Given the description of an element on the screen output the (x, y) to click on. 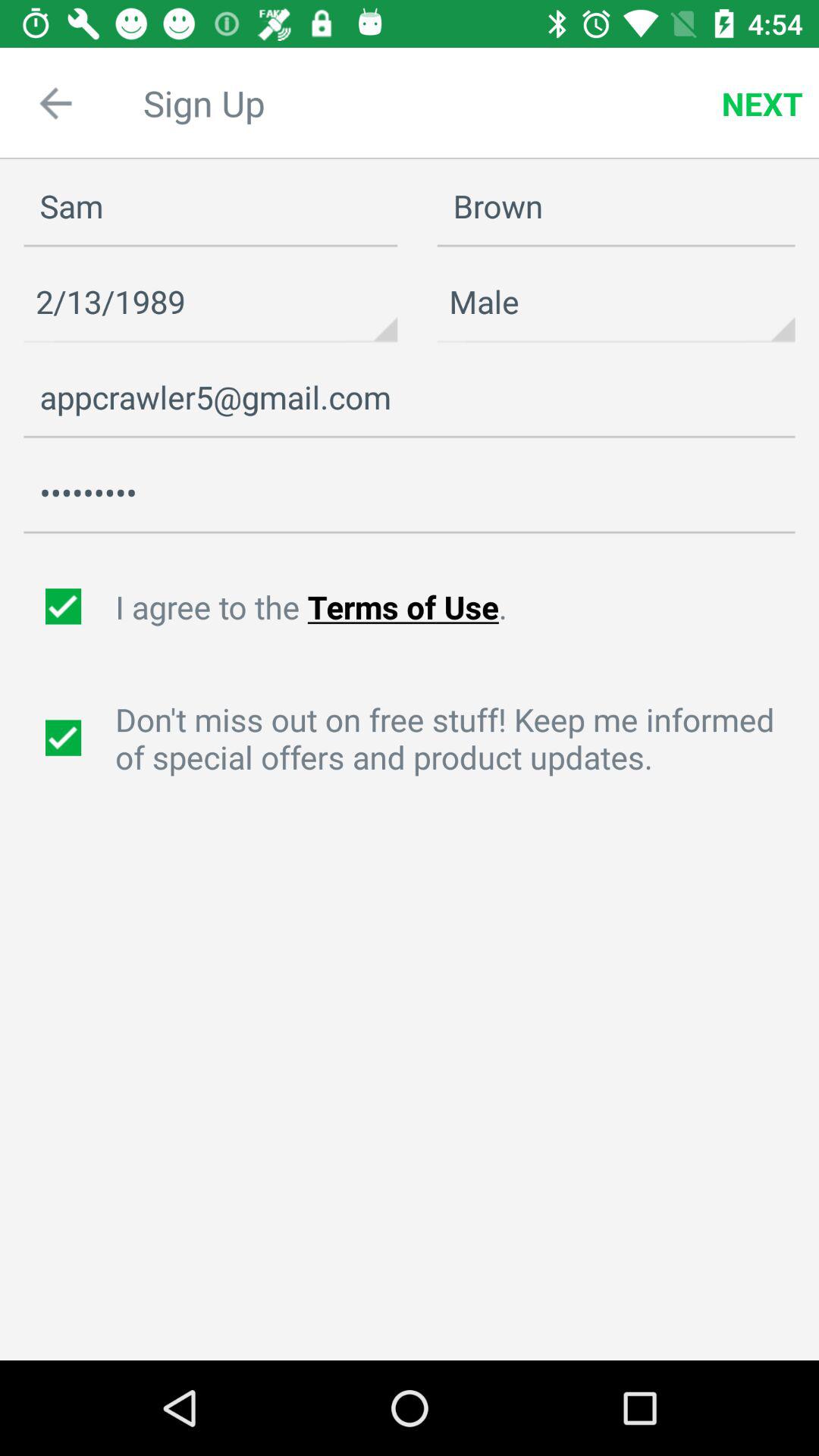
turn on icon above appcrawler5@gmail.com (210, 302)
